Given the description of an element on the screen output the (x, y) to click on. 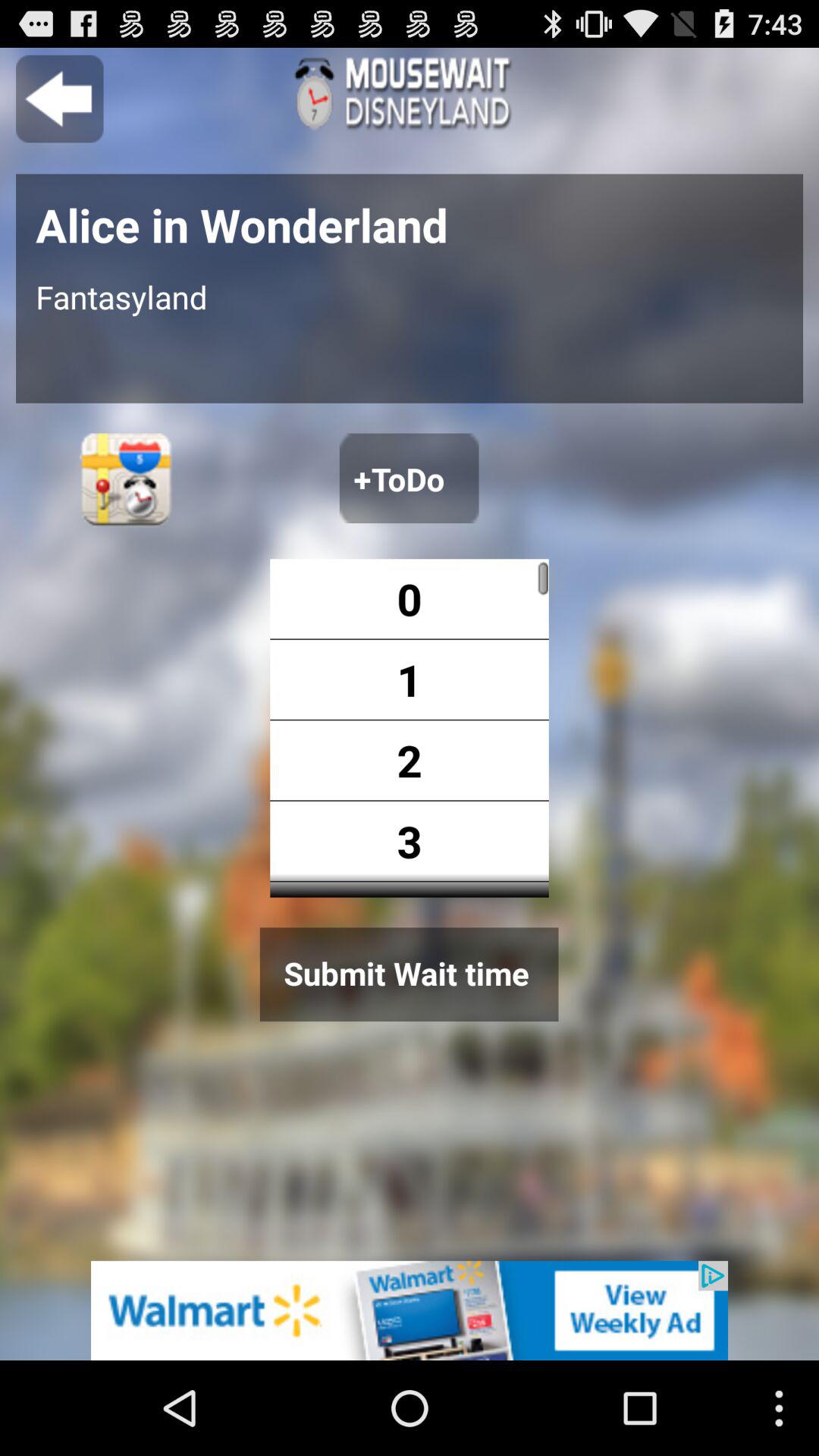
select option (408, 478)
